Given the description of an element on the screen output the (x, y) to click on. 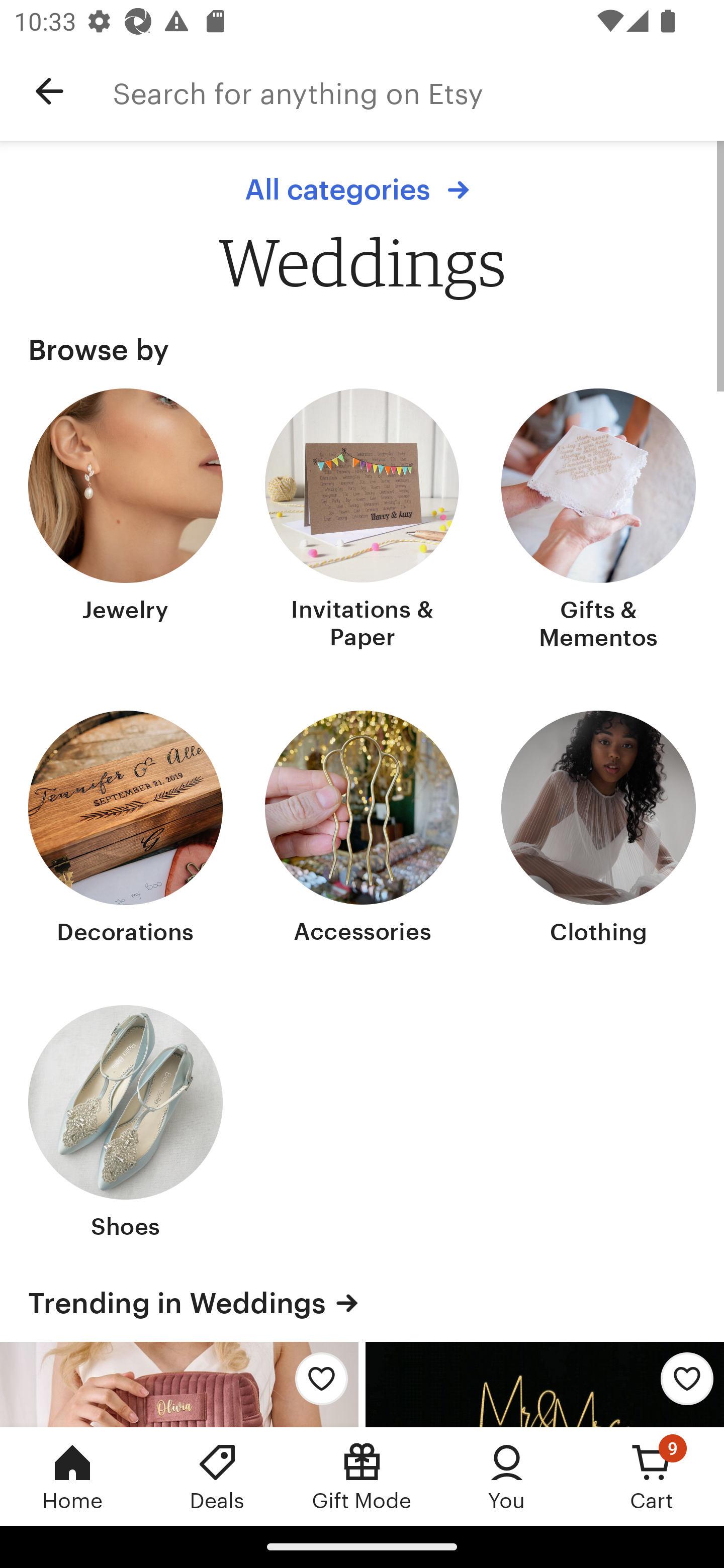
Navigate up (49, 91)
Search for anything on Etsy (418, 91)
All categories (361, 189)
Jewelry (125, 520)
Invitations & Paper (361, 520)
Gifts & Mementos (598, 520)
Decorations (125, 829)
Accessories (361, 829)
Clothing (598, 829)
Shoes (125, 1124)
Trending in Weddings  (361, 1302)
Deals (216, 1475)
Gift Mode (361, 1475)
You (506, 1475)
Cart, 9 new notifications Cart (651, 1475)
